Given the description of an element on the screen output the (x, y) to click on. 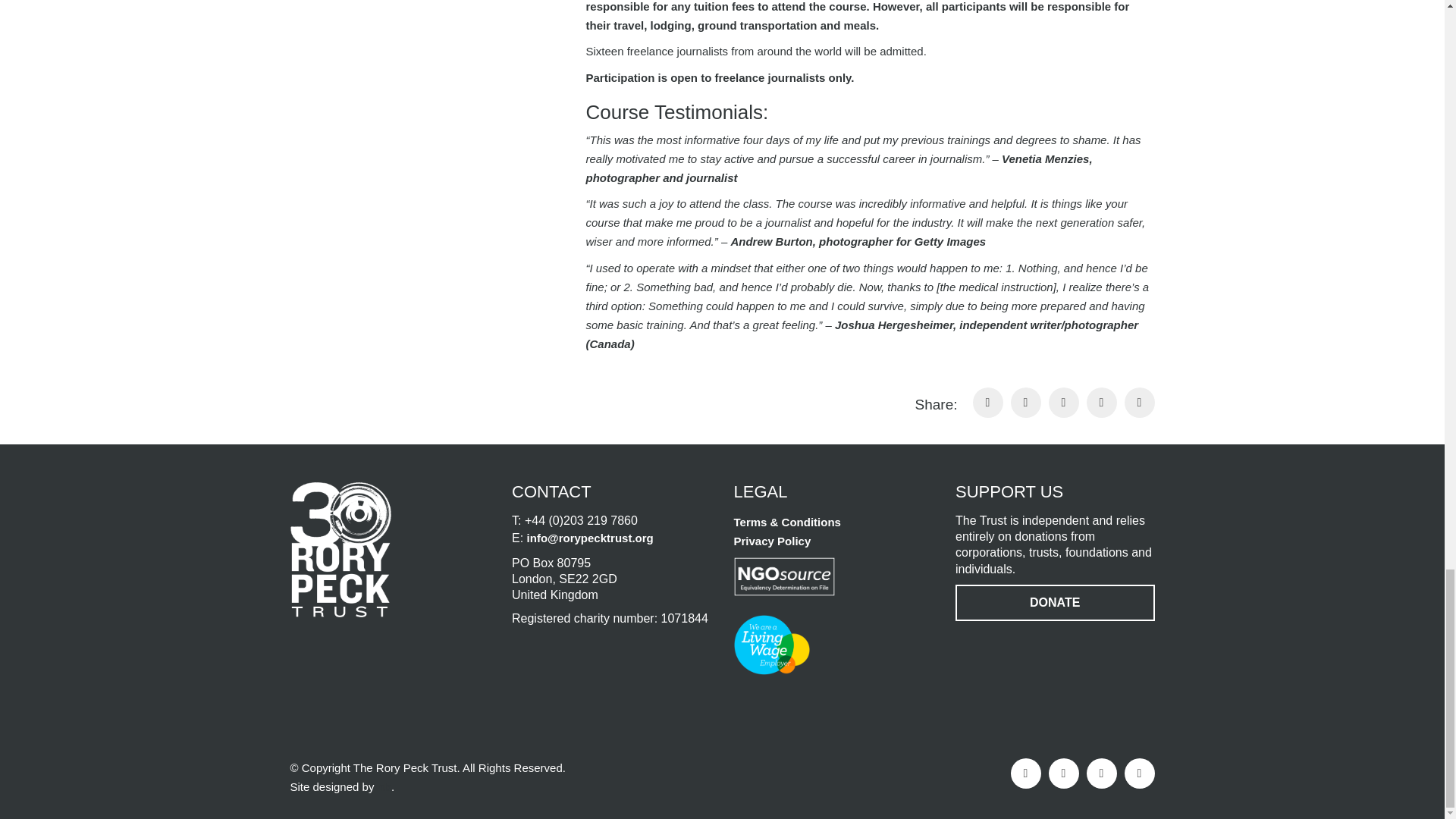
Facebook (1025, 773)
About Equivalency Determination on File badge (783, 576)
YouTube (1139, 773)
We are a Living Wage Employer (771, 644)
Donate (1054, 602)
Instagram (1101, 773)
Privacy Policy (771, 540)
DONATE (1054, 602)
Twitter X (1063, 773)
